Given the description of an element on the screen output the (x, y) to click on. 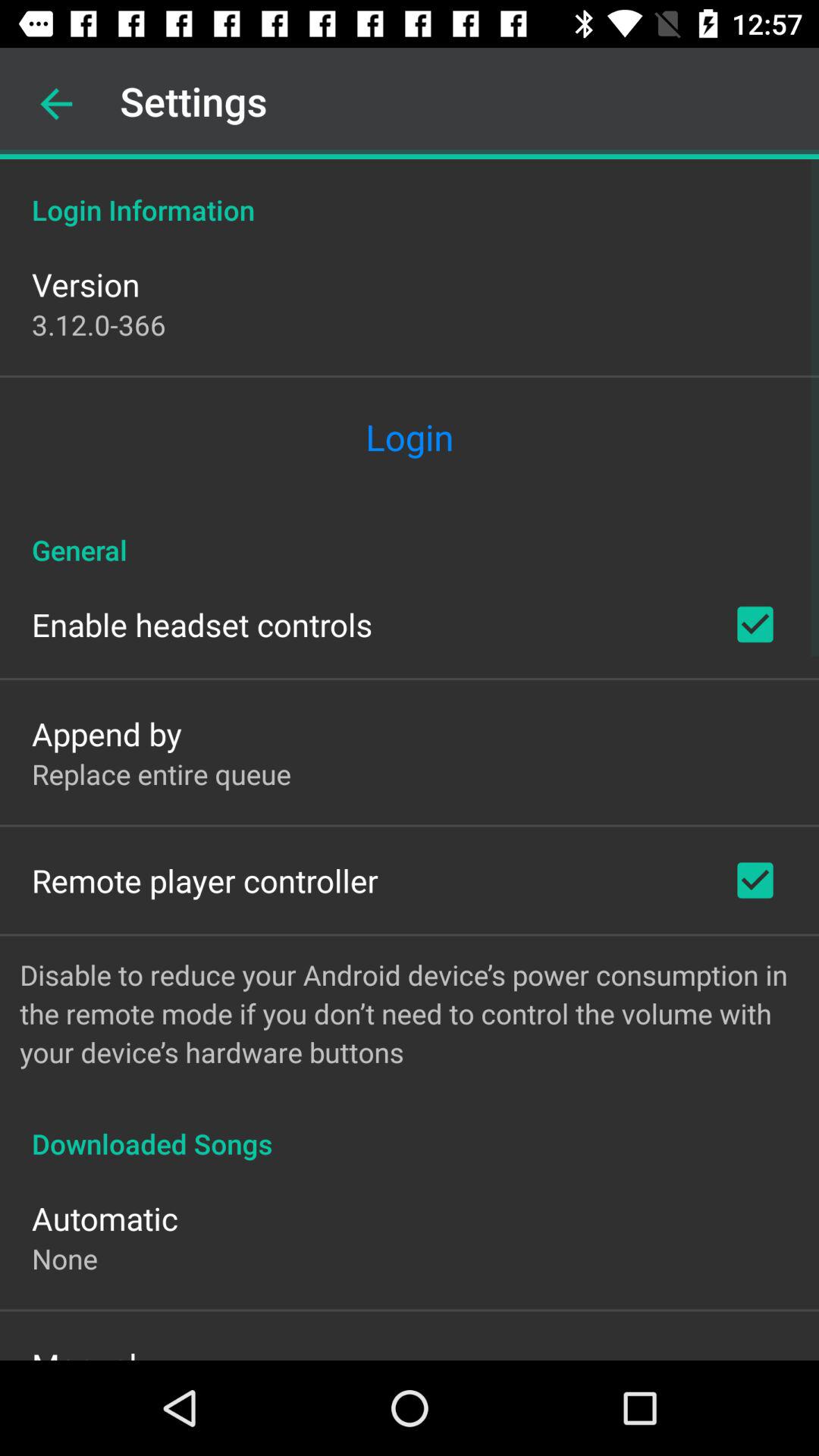
choose the icon above append by item (201, 624)
